Given the description of an element on the screen output the (x, y) to click on. 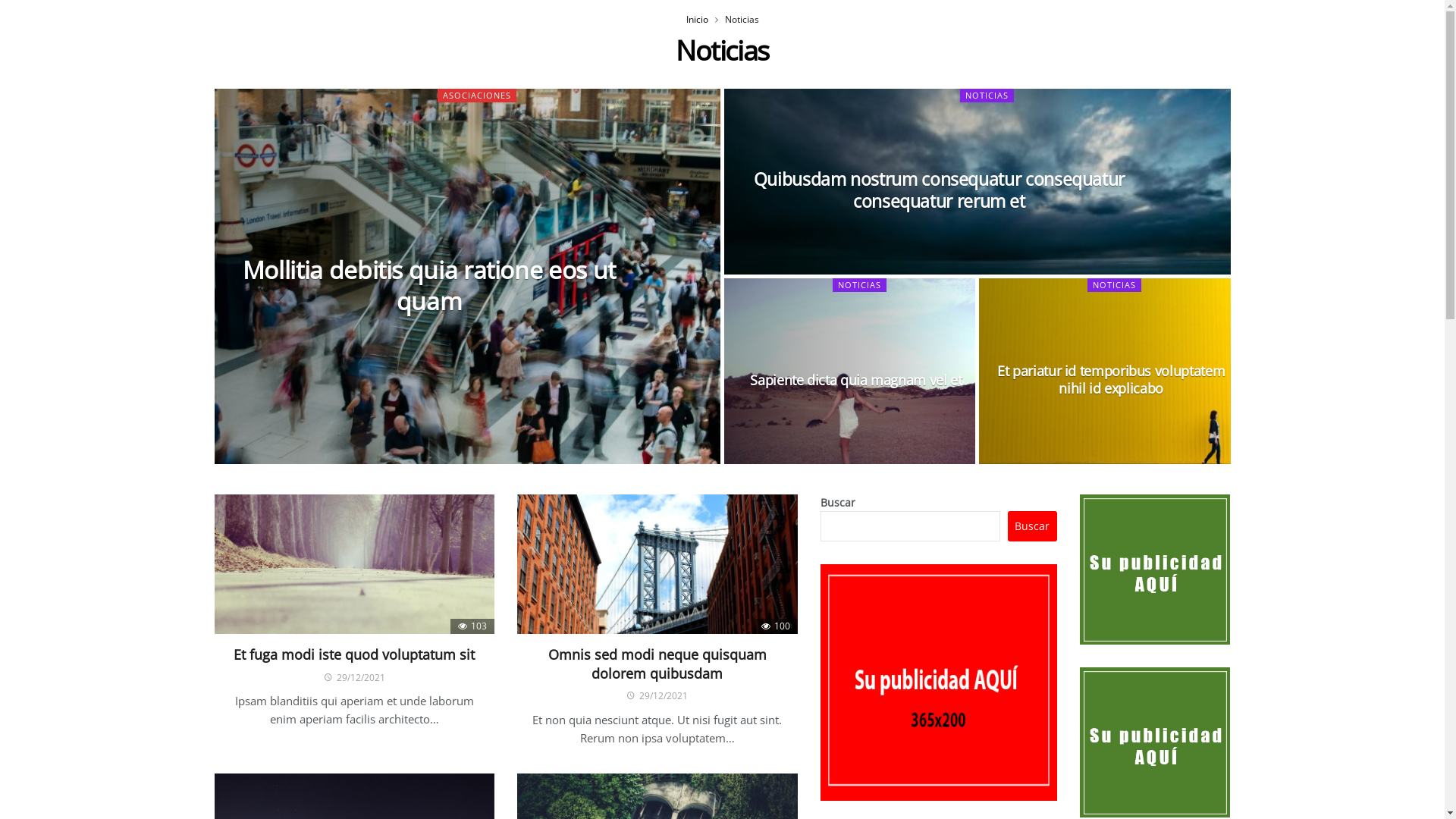
29/12/2021 Element type: text (656, 695)
29/12/2021 Element type: text (354, 677)
Mollitia debitis quia ratione eos ut quam Element type: text (428, 285)
Et pariatur id temporibus voluptatem nihil id explicabo Element type: hover (1104, 371)
Sapiente dicta quia magnam vel et Element type: text (856, 380)
Inicio Element type: text (696, 19)
NOTICIAS Element type: text (986, 95)
Buscar Element type: text (1032, 526)
Omnis sed modi neque quisquam dolorem quibusdam Element type: hover (657, 564)
NOTICIAS Element type: text (1114, 284)
Sapiente dicta quia magnam vel et Element type: hover (849, 371)
Et fuga modi iste quod voluptatum sit Element type: hover (353, 564)
ASOCIACIONES Element type: text (476, 95)
Omnis sed modi neque quisquam dolorem quibusdam Element type: text (657, 663)
Et fuga modi iste quod voluptatum sit Element type: text (353, 654)
NOTICIAS Element type: text (859, 284)
Mollitia debitis quia ratione eos ut quam Element type: hover (466, 276)
Et pariatur id temporibus voluptatem nihil id explicabo Element type: text (1110, 380)
